Given the description of an element on the screen output the (x, y) to click on. 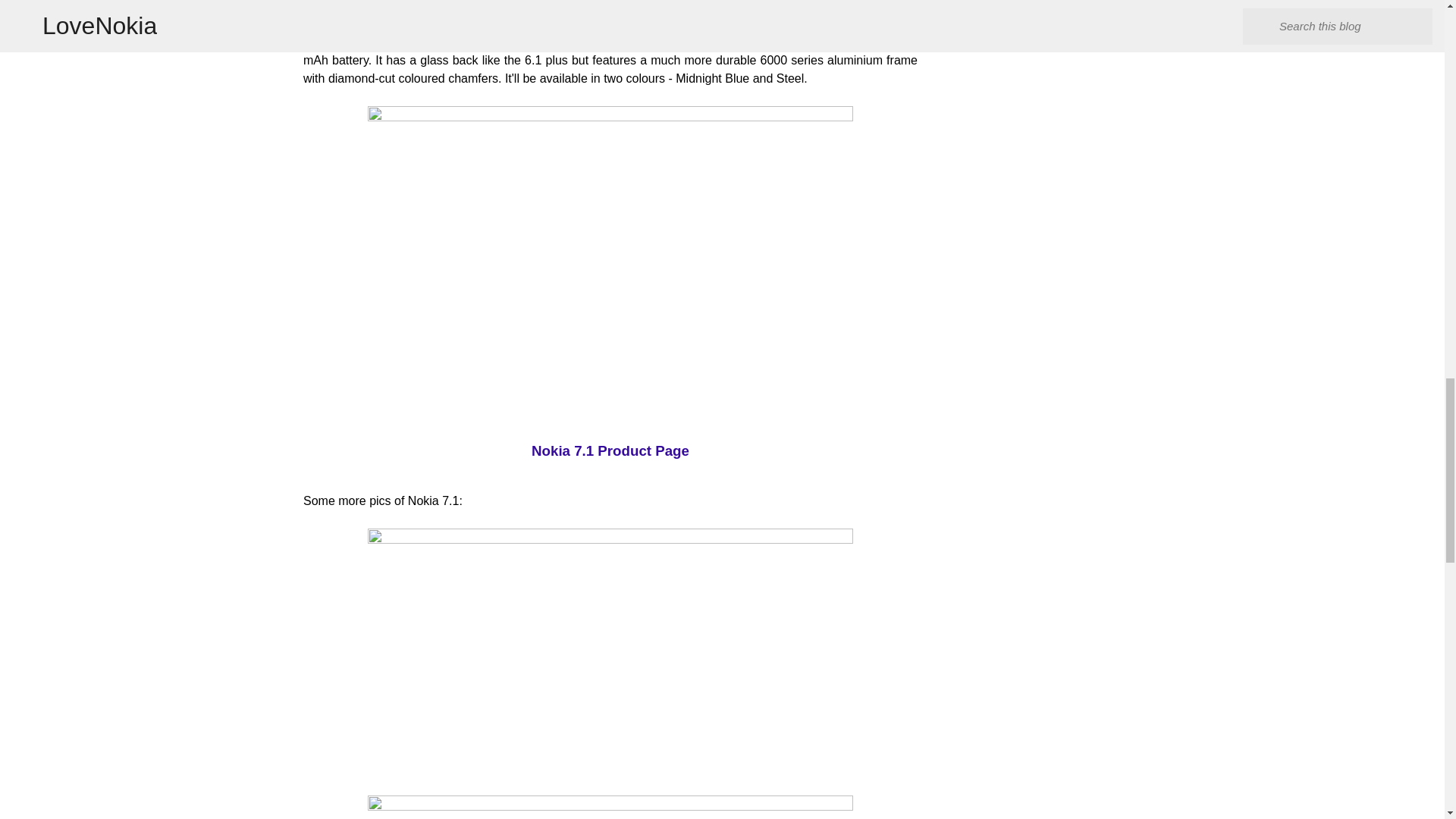
Nokia 7.1 HDR vs SDR Comparison (610, 7)
Nokia 7.1 PureDisplay (610, 807)
Nokia 7.1 Product Page (609, 450)
